Given the description of an element on the screen output the (x, y) to click on. 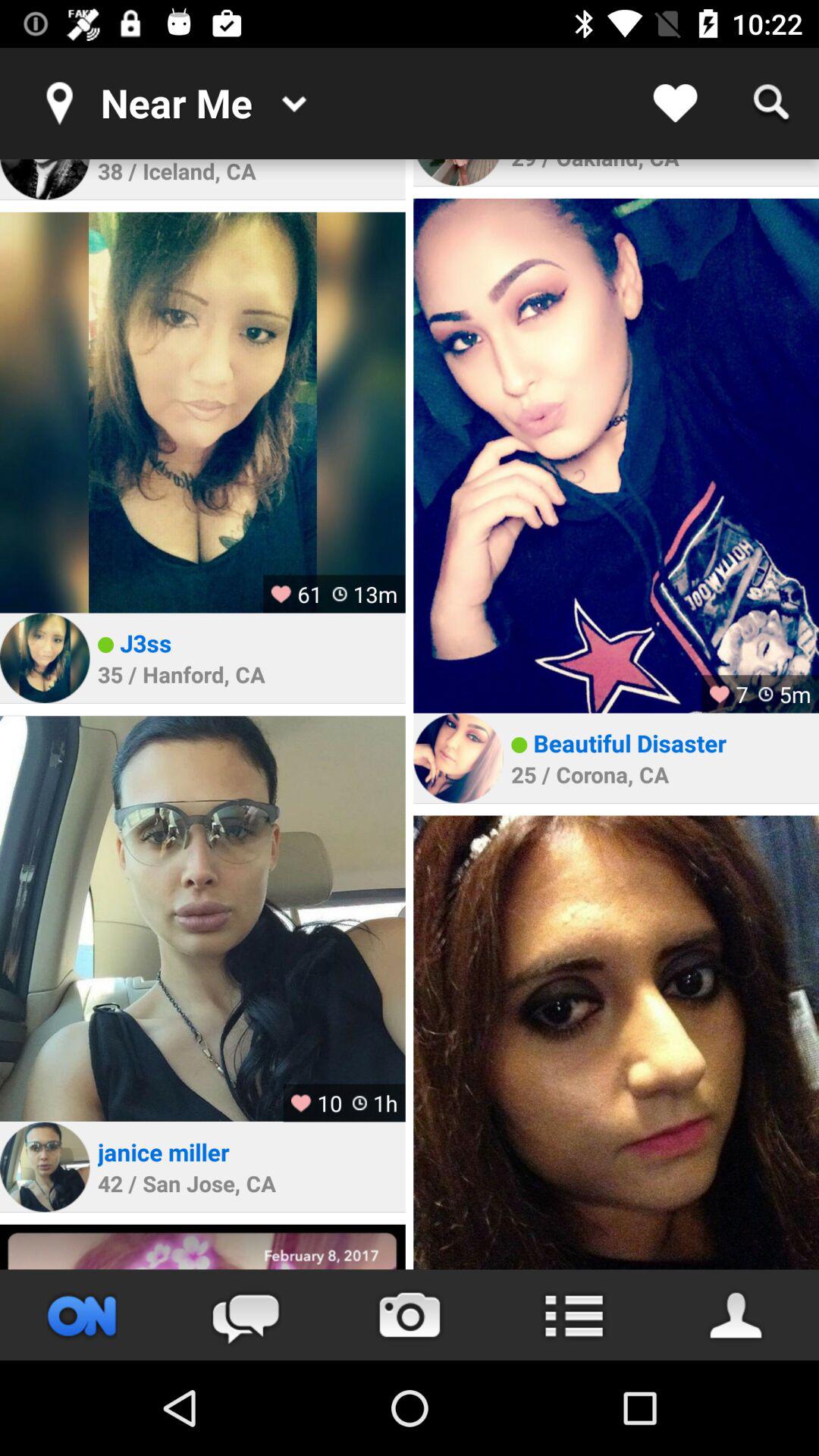
open picture (616, 455)
